Given the description of an element on the screen output the (x, y) to click on. 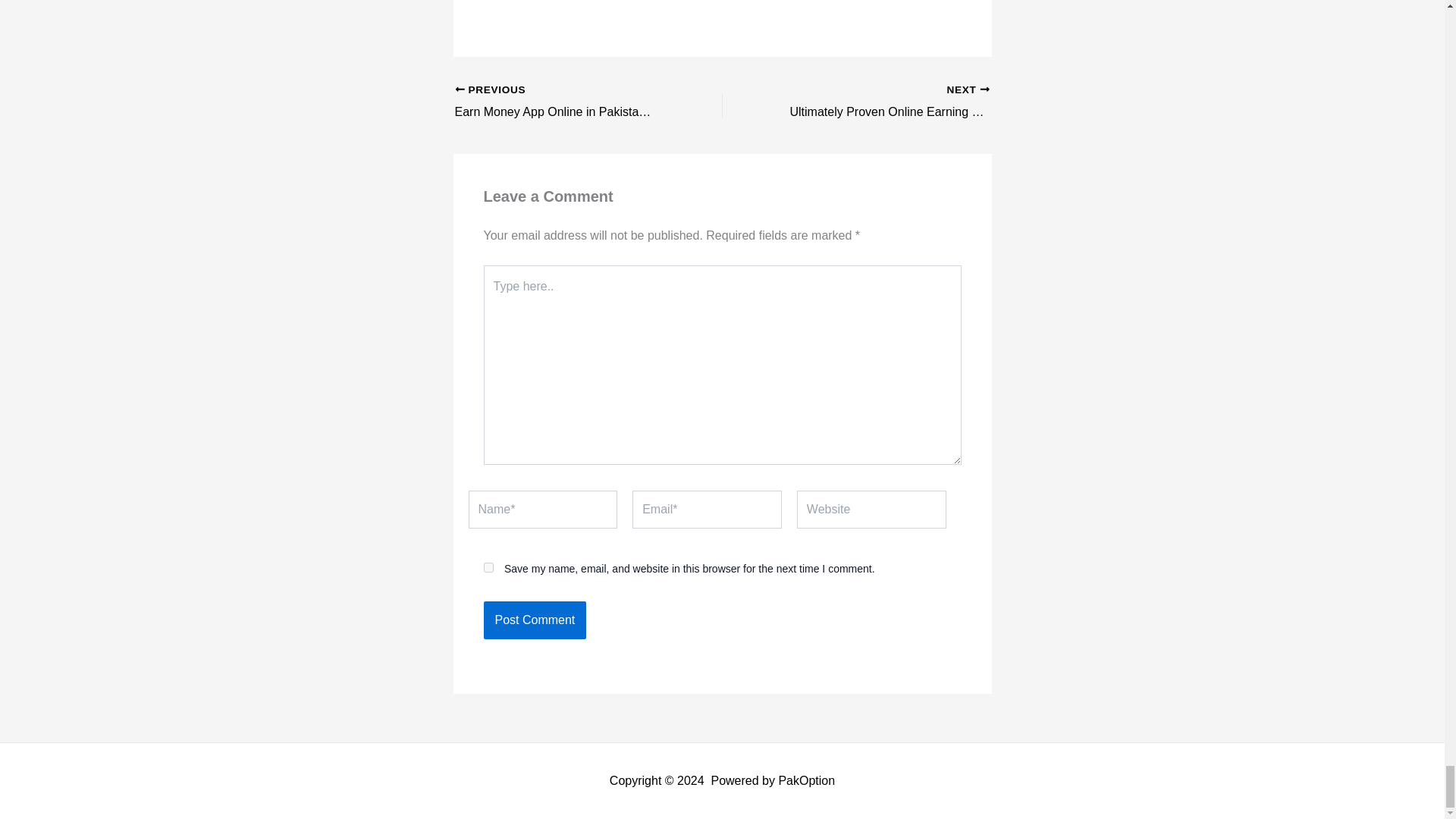
Post Comment (534, 620)
yes (561, 102)
Post Comment (488, 567)
Earn Money App Online in Pakistan 2023 (534, 620)
